Given the description of an element on the screen output the (x, y) to click on. 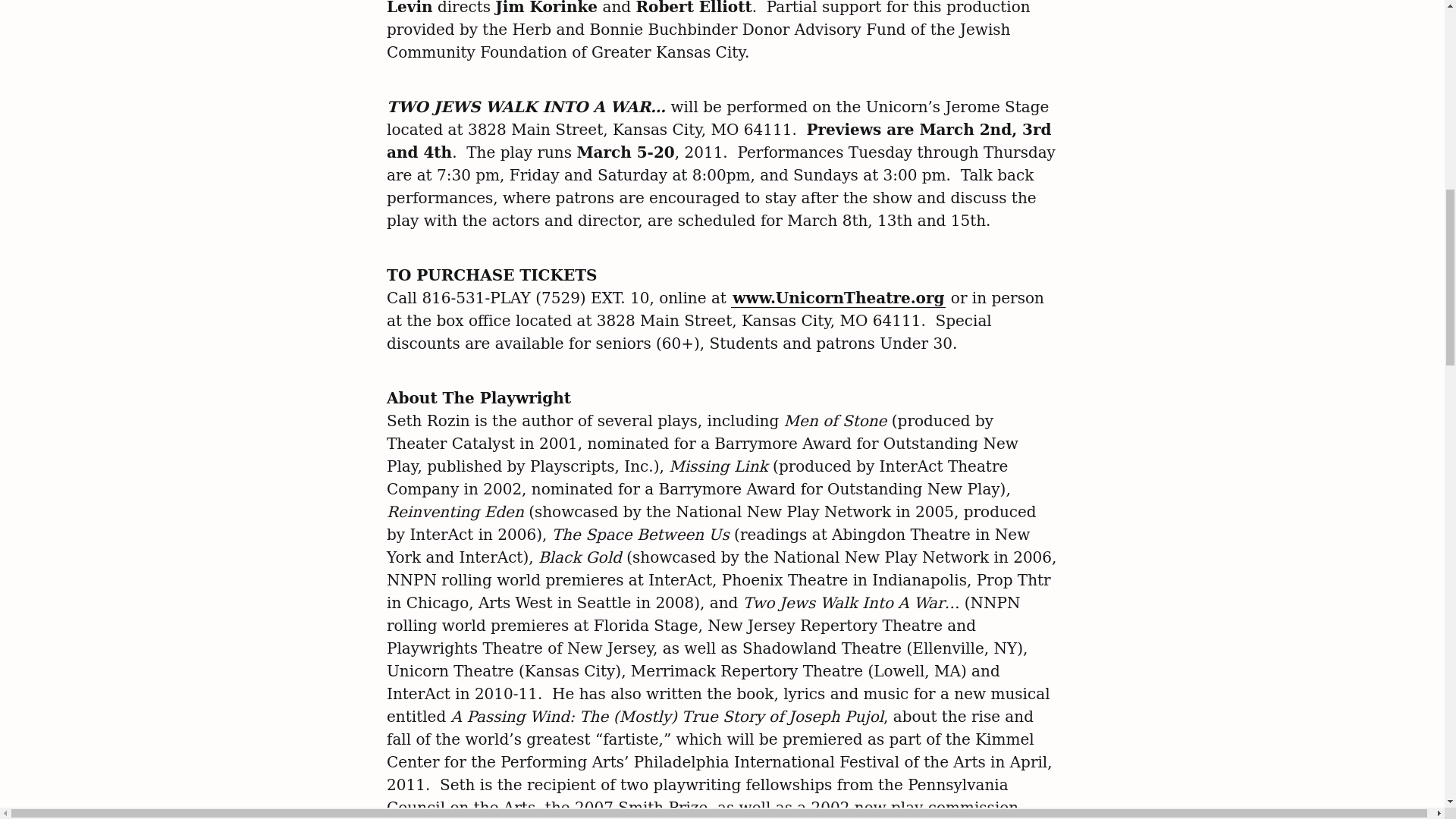
www.UnicornTheatre.org (837, 298)
